Given the description of an element on the screen output the (x, y) to click on. 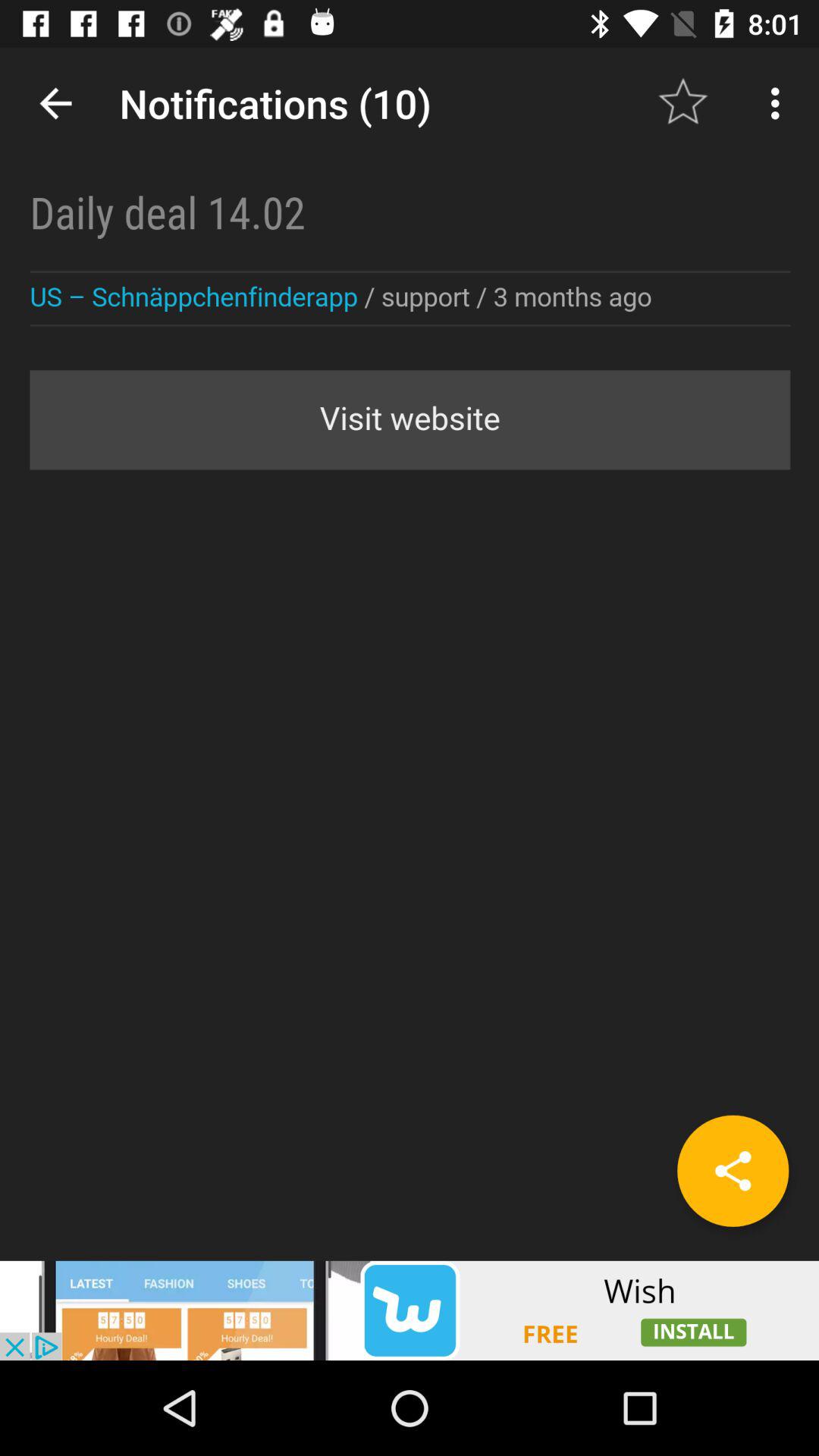
advertisement banner (409, 1310)
